Given the description of an element on the screen output the (x, y) to click on. 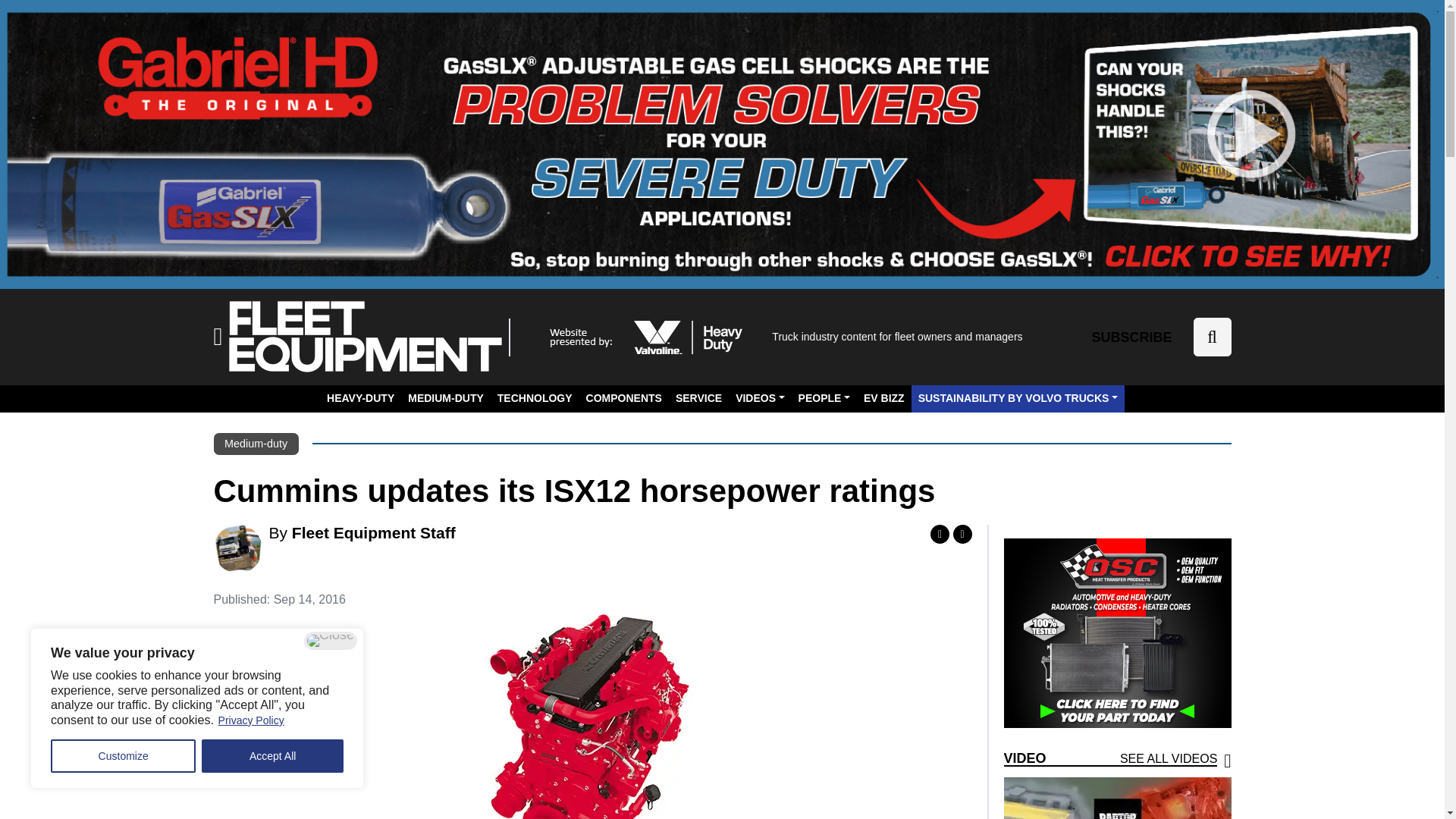
Accept All (272, 756)
Customize (122, 756)
Privacy Policy (250, 720)
